Given the description of an element on the screen output the (x, y) to click on. 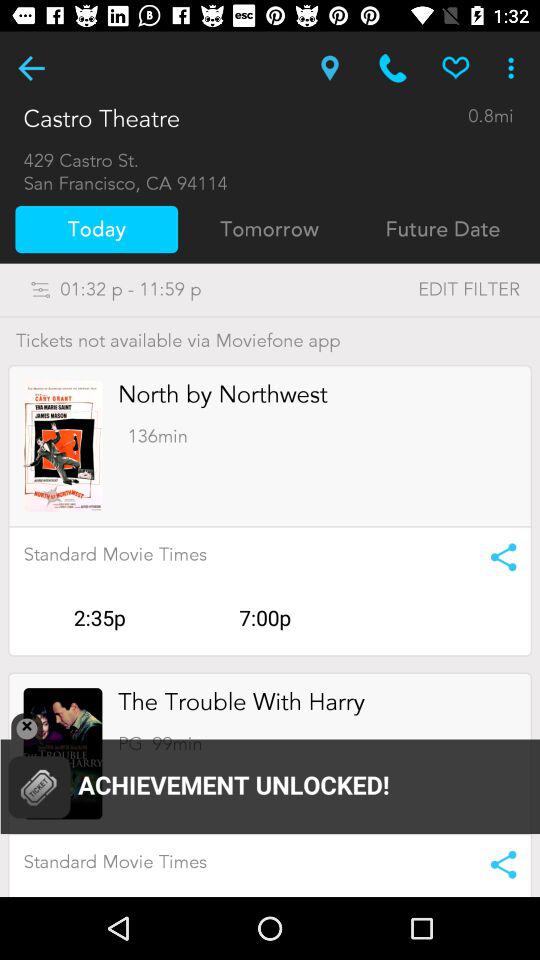
advertisement page (62, 445)
